Given the description of an element on the screen output the (x, y) to click on. 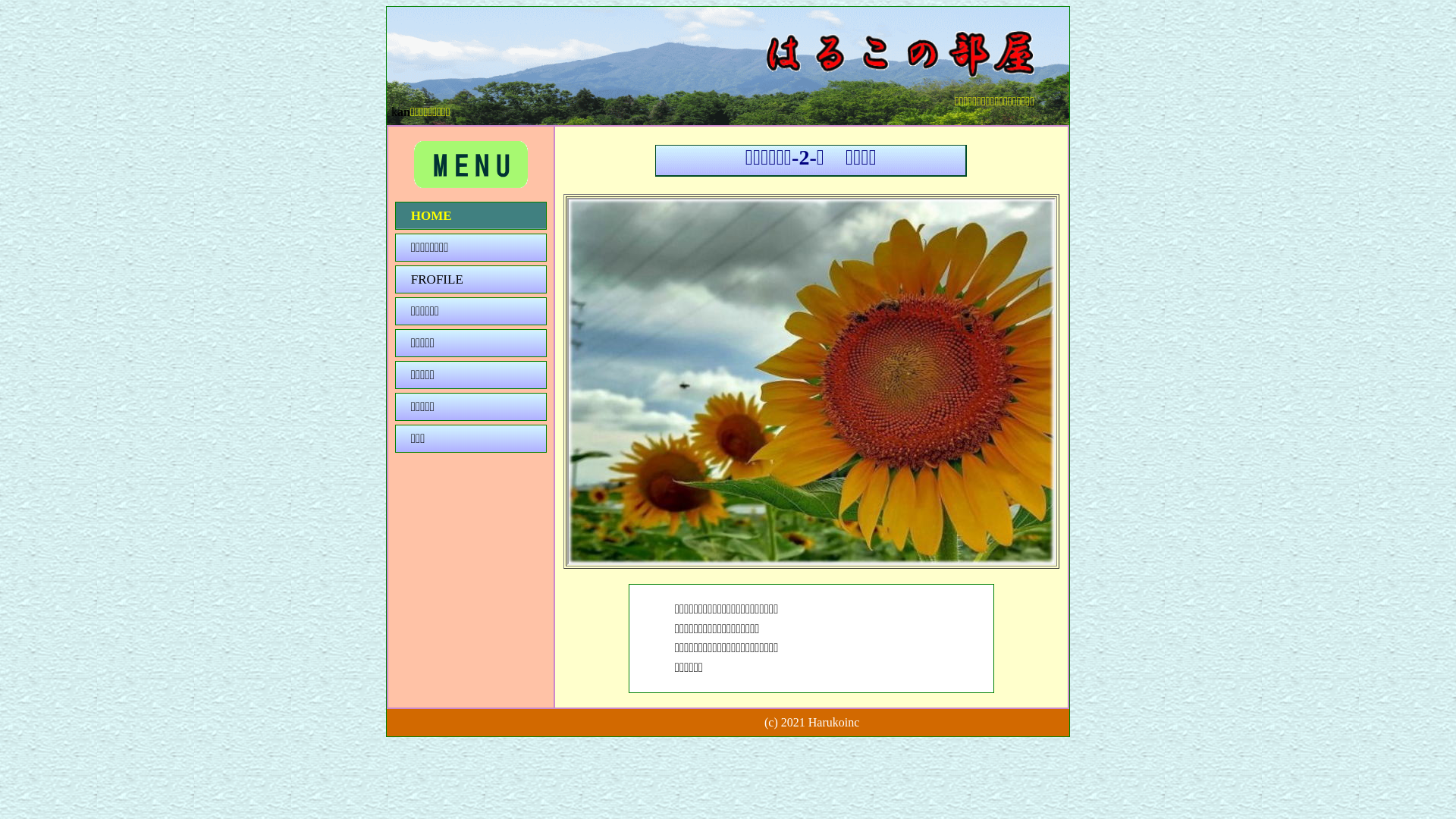
HOME Element type: text (470, 215)
FROFILE Element type: text (470, 279)
